Given the description of an element on the screen output the (x, y) to click on. 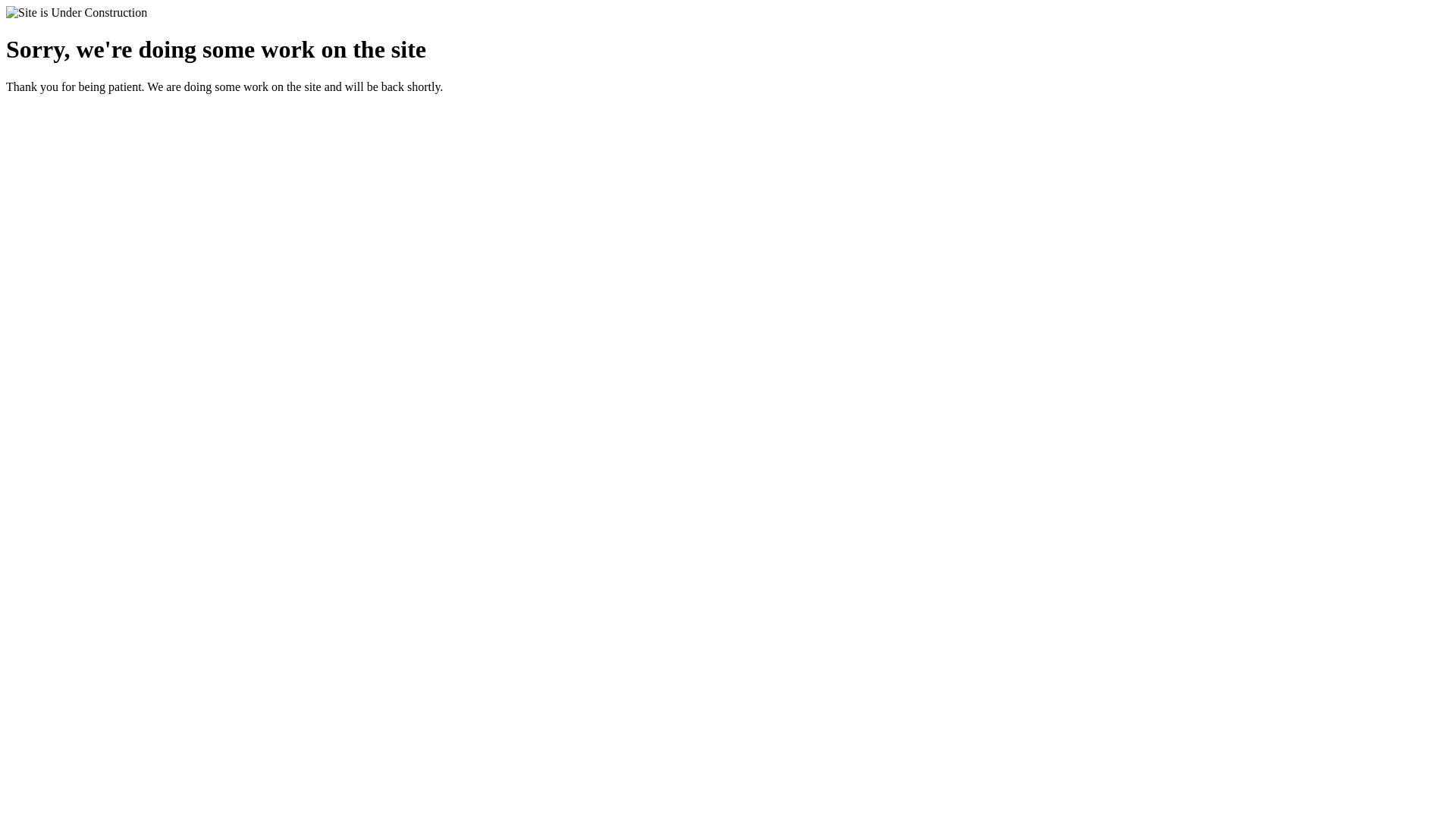
Site is Under Construction Element type: hover (76, 12)
